Given the description of an element on the screen output the (x, y) to click on. 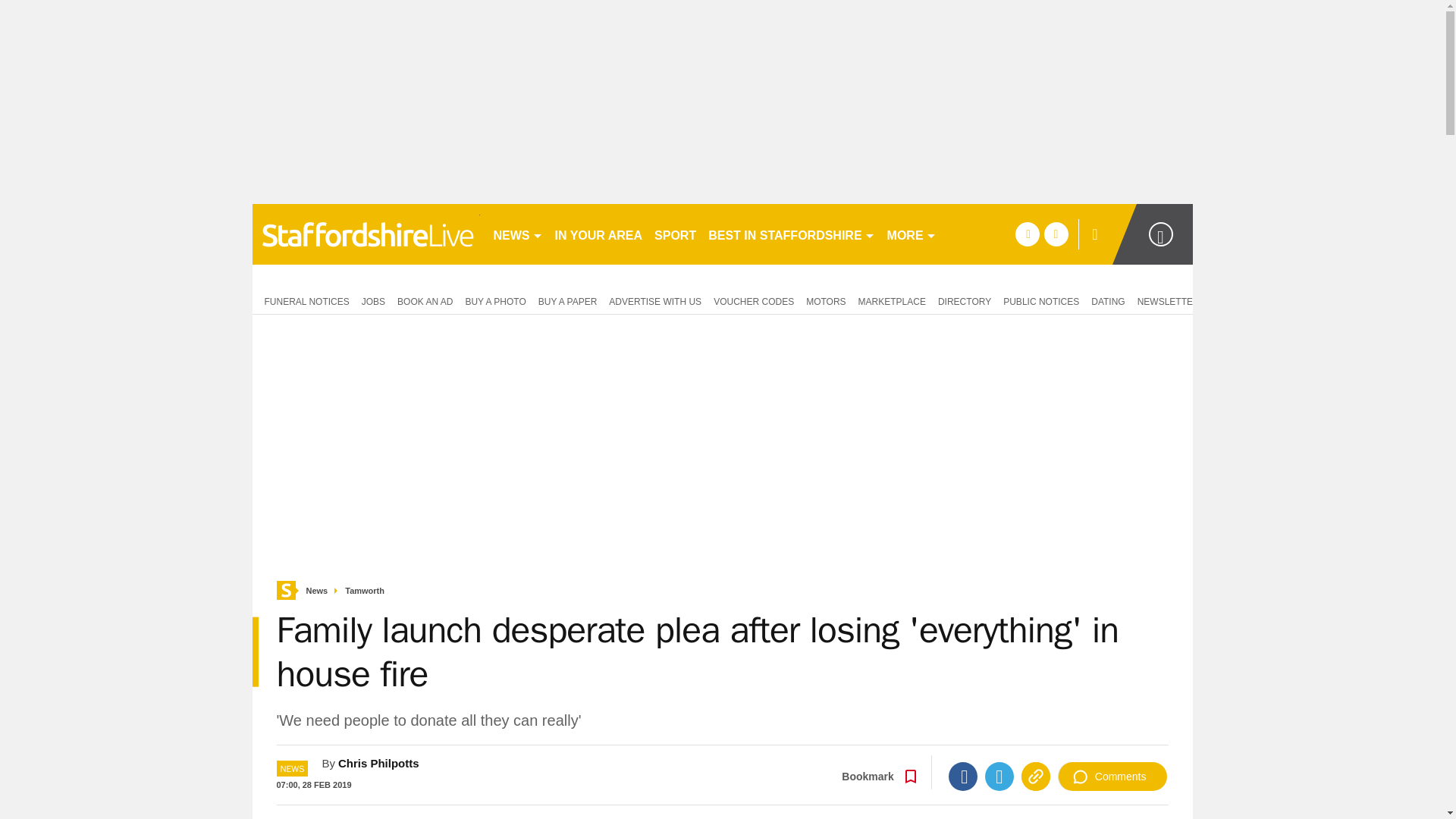
facebook (1026, 233)
PUBLIC NOTICES (1040, 300)
MARKETPLACE (891, 300)
JOBS (373, 300)
BUY A PHOTO (494, 300)
BEST IN STAFFORDSHIRE (790, 233)
DIRECTORY (964, 300)
twitter (1055, 233)
MORE (911, 233)
burtonmail (365, 233)
